Given the description of an element on the screen output the (x, y) to click on. 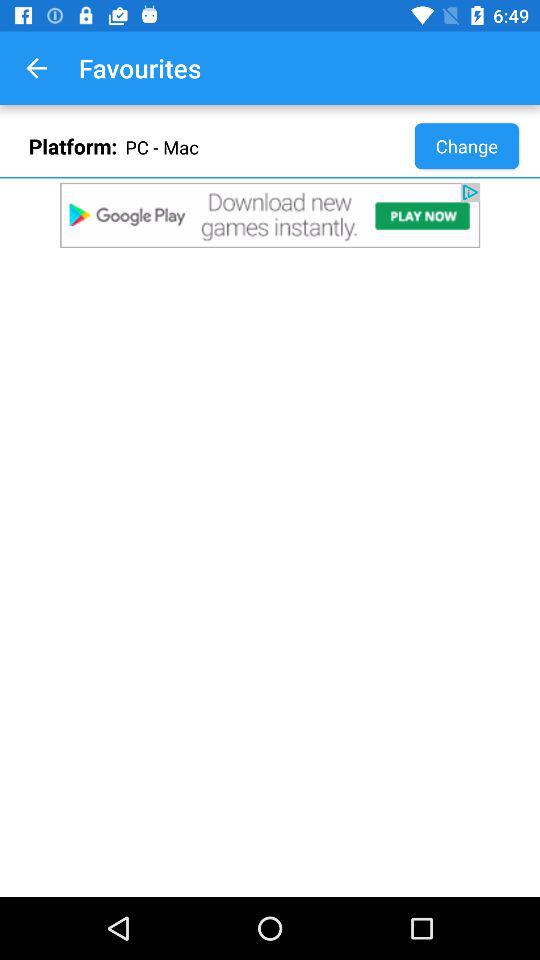
search page (270, 215)
